Given the description of an element on the screen output the (x, y) to click on. 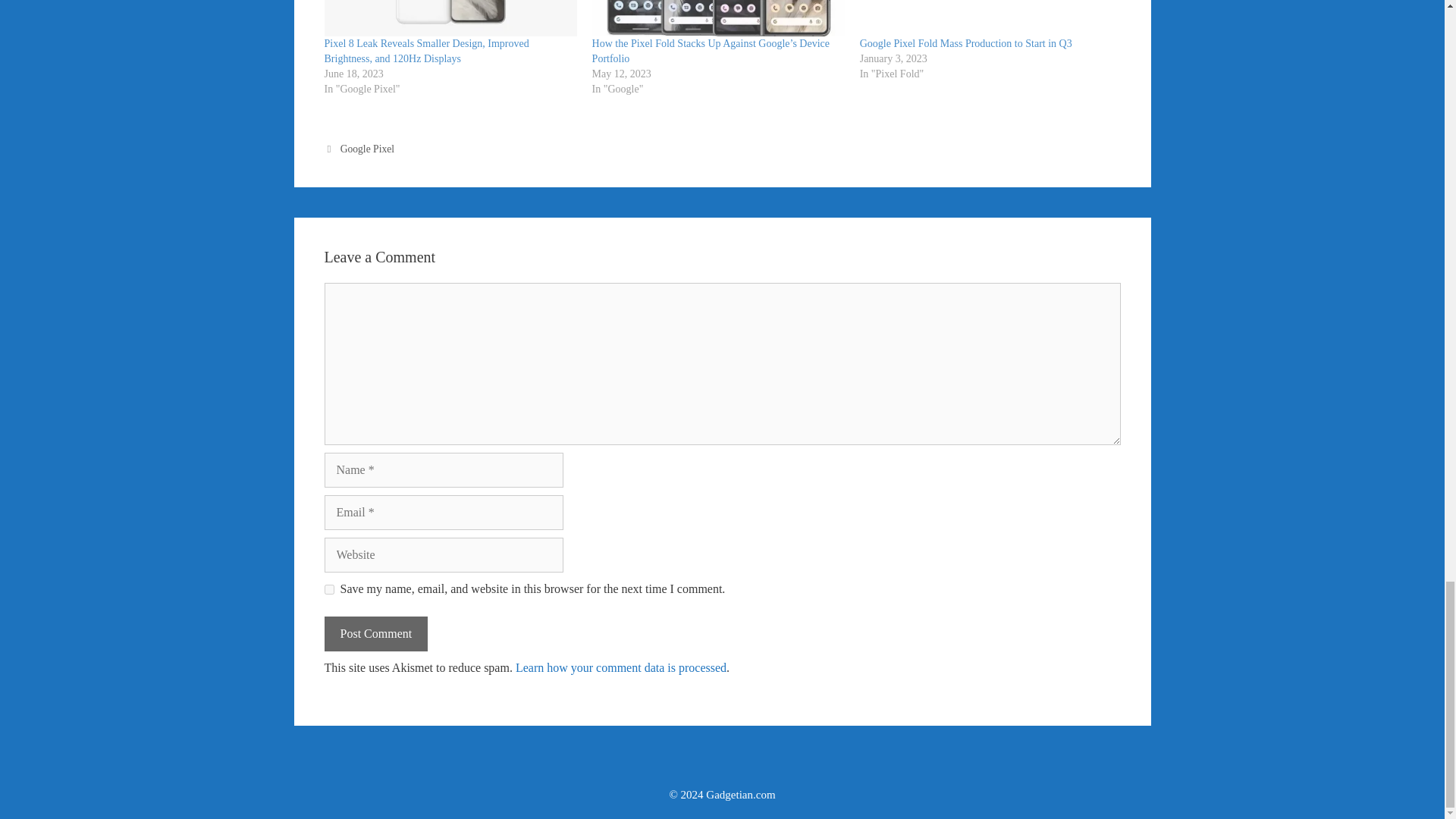
Google Pixel Fold Mass Production to Start in Q3 (986, 18)
Google Pixel Fold Mass Production to Start in Q3 (965, 42)
Post Comment (376, 633)
yes (329, 589)
